Given the description of an element on the screen output the (x, y) to click on. 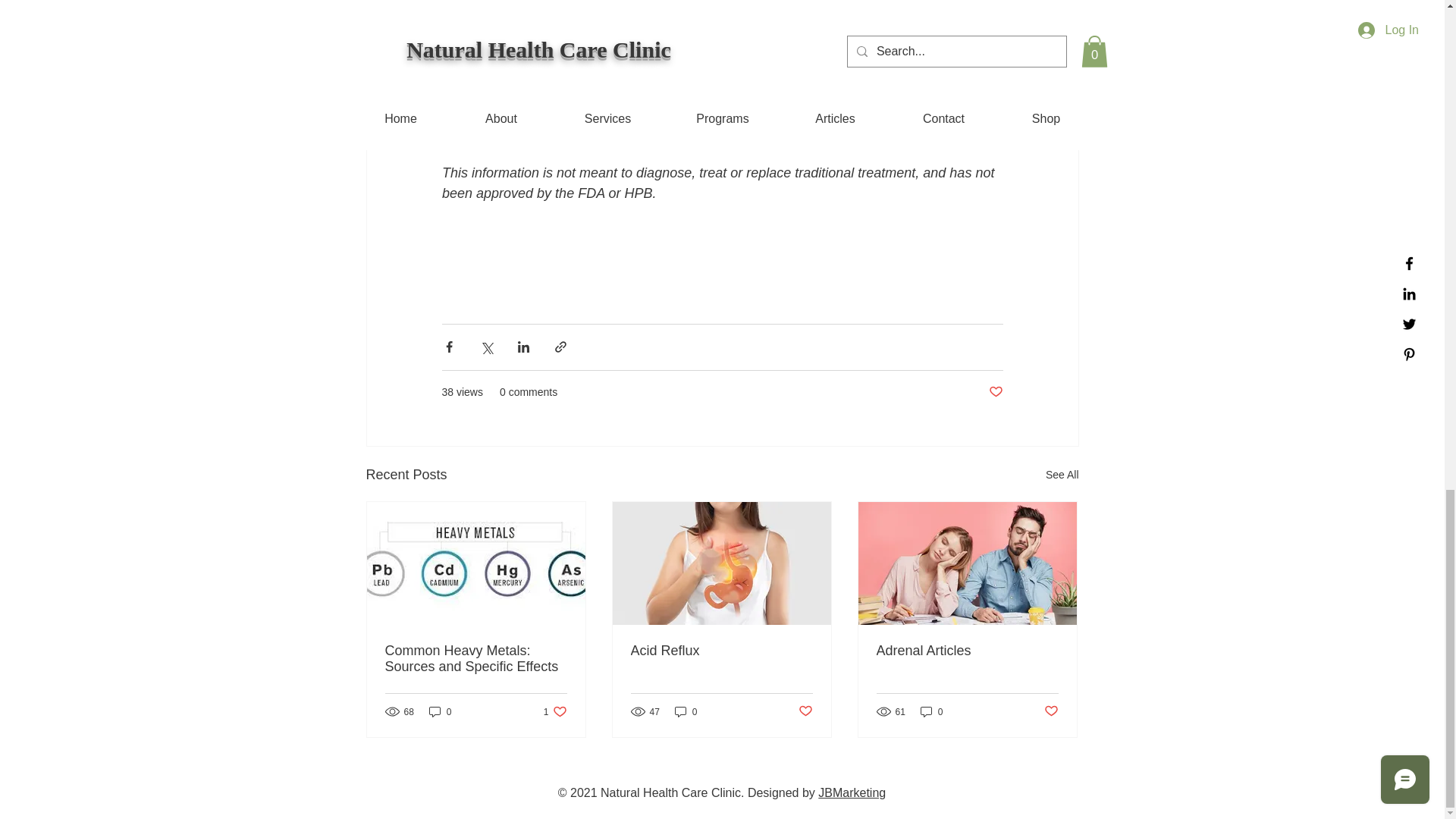
Post not marked as liked (995, 392)
0 (931, 711)
Common Heavy Metals: Sources and Specific Effects (476, 658)
Acid Reflux (721, 650)
0 (685, 711)
0 (440, 711)
Post not marked as liked (1050, 711)
Adrenal Articles (967, 650)
Post not marked as liked (804, 711)
JBMarketing (851, 792)
See All (555, 711)
